Given the description of an element on the screen output the (x, y) to click on. 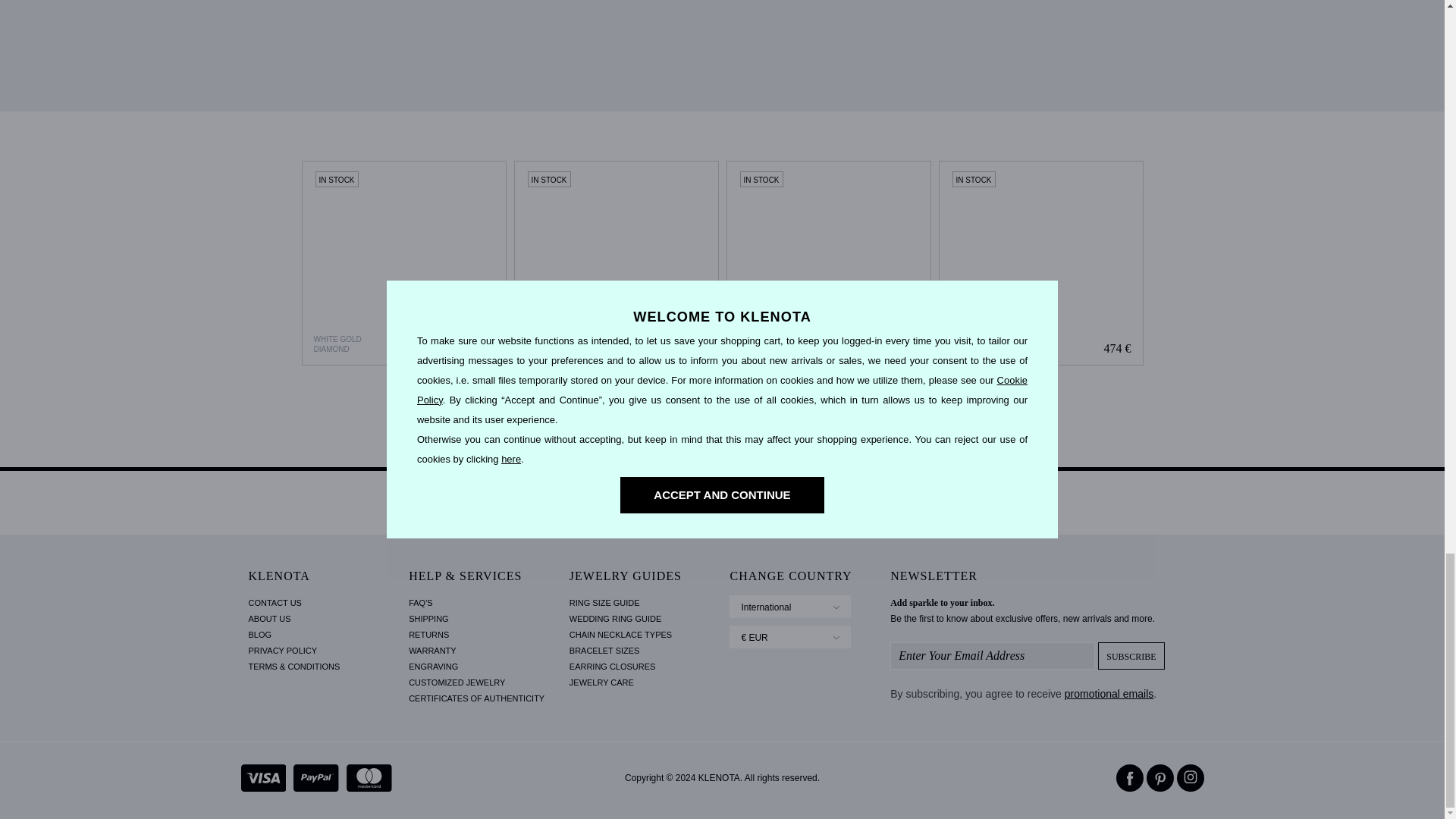
Bezel Ring with Brilliant in White Gold (1040, 262)
Bezel Ring with Brilliant in White Gold (1040, 262)
Pinterest (1160, 777)
Gentle Ring in Pink Gold with Diamond (615, 262)
Gentle Ring in Pink Gold with Diamond (616, 262)
Half Carat Diamond Ring in White Gold (403, 262)
Classic Engagement Ring in White Gold with a Diamond (828, 262)
Half Carat Diamond Ring in White Gold (403, 262)
Instagram (1190, 777)
Classic Engagement Ring in White Gold with a Diamond (828, 262)
Facebook (1129, 777)
